Given the description of an element on the screen output the (x, y) to click on. 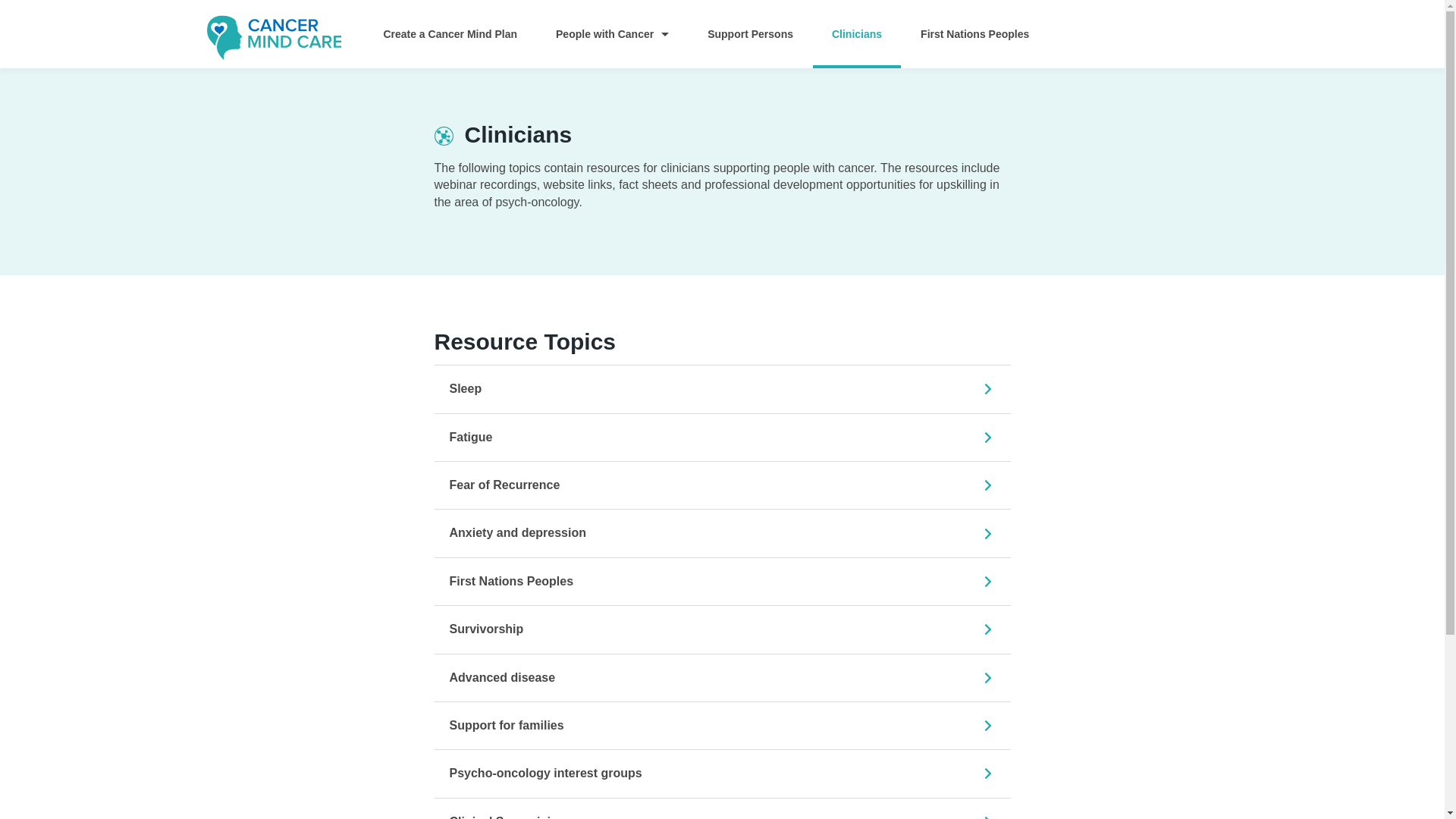
Psycho-oncology interest groups
bond-icon Element type: text (721, 773)
Advanced disease
bond-icon Element type: text (721, 677)
Fatigue
bond-icon Element type: text (721, 437)
Survivorship
bond-icon Element type: text (721, 628)
First Nations Peoples Element type: text (974, 34)
People with Cancer Element type: text (611, 34)
Anxiety and depression
bond-icon Element type: text (721, 532)
Support Persons Element type: text (750, 34)
First Nations Peoples
bond-icon Element type: text (721, 581)
Fear of Recurrence
bond-icon Element type: text (721, 484)
Support for families
bond-icon Element type: text (721, 725)
Sleep
bond-icon Element type: text (721, 388)
Create a Cancer Mind Plan Element type: text (450, 34)
Clinicians Element type: text (856, 34)
